Given the description of an element on the screen output the (x, y) to click on. 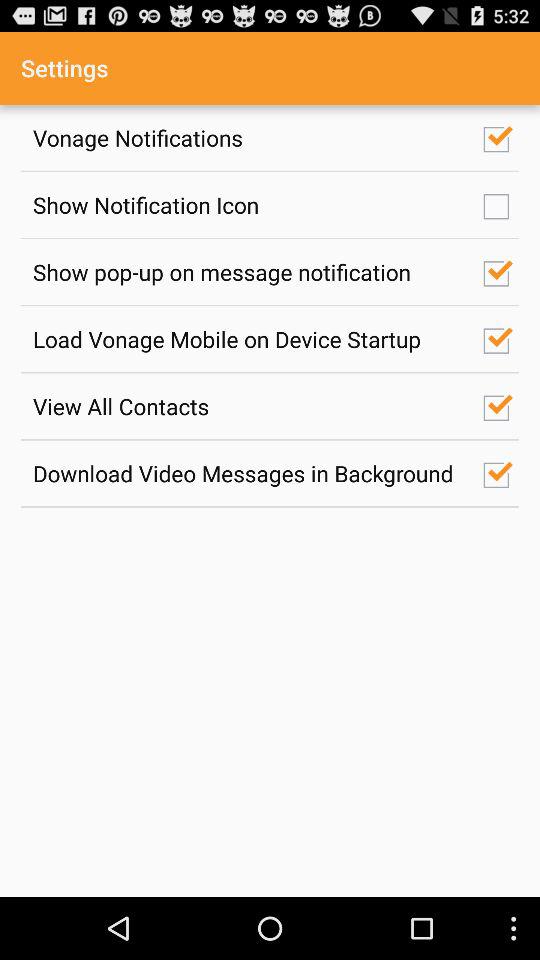
open the item above download video messages (247, 406)
